Given the description of an element on the screen output the (x, y) to click on. 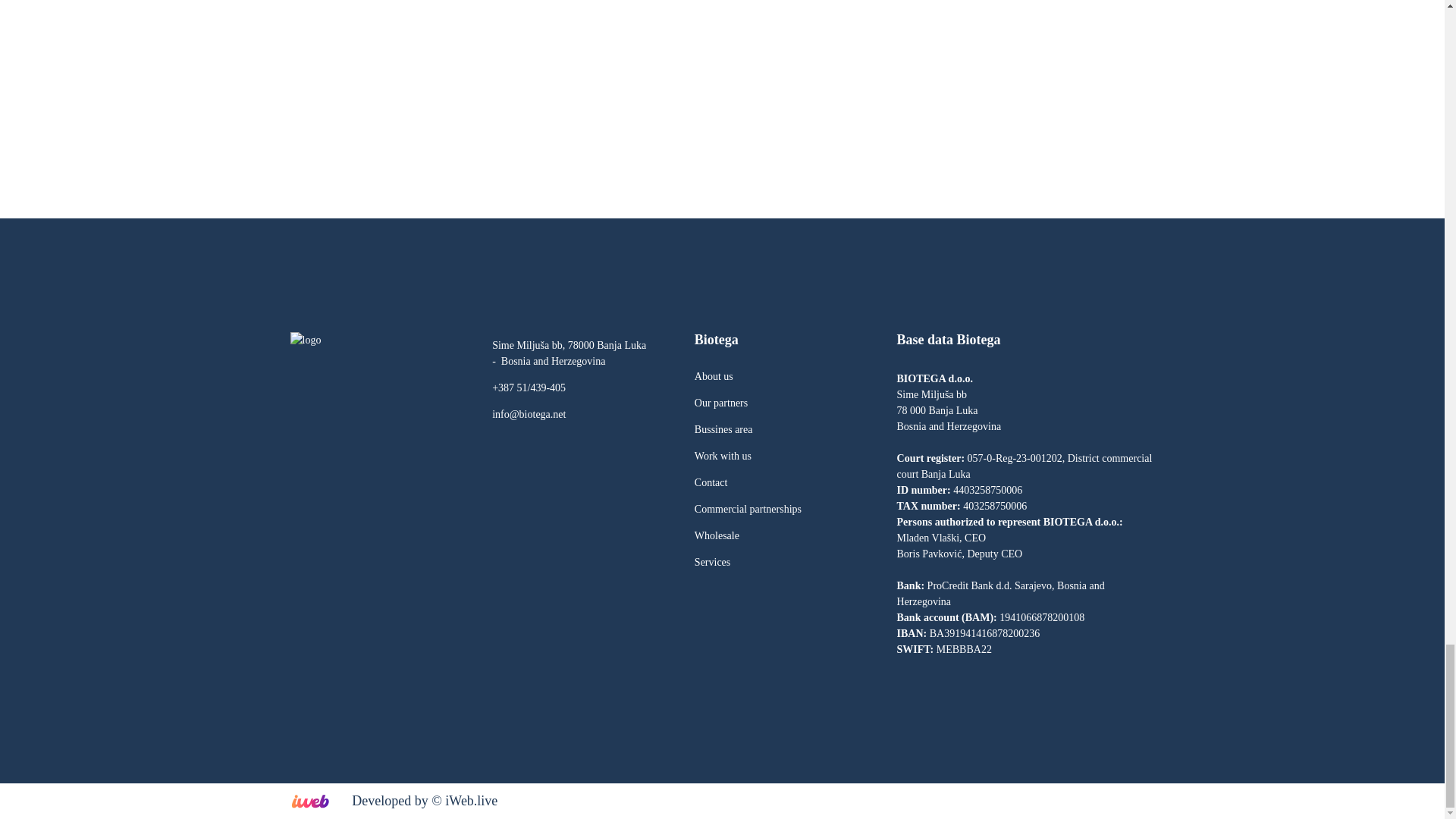
Contact (711, 482)
Work with us (722, 455)
Wholesale (716, 535)
Our partners (721, 402)
Bussines area (723, 429)
Commercial partnerships (748, 509)
About us (713, 376)
Services (712, 562)
